Given the description of an element on the screen output the (x, y) to click on. 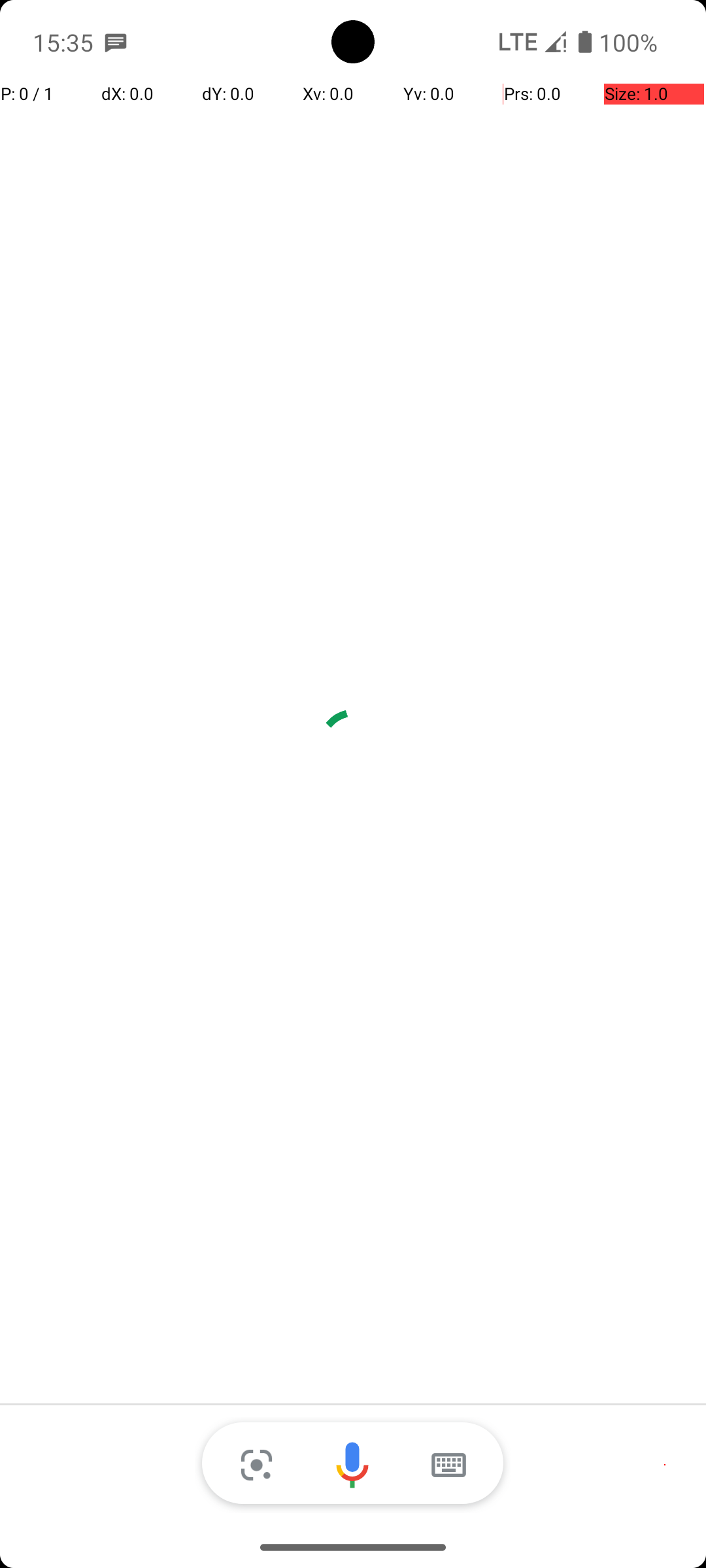
Assistant Element type: android.widget.RelativeLayout (353, 1464)
Lens icon Element type: android.widget.ImageView (256, 1465)
Type mode Element type: android.widget.ImageView (448, 1465)
